Given the description of an element on the screen output the (x, y) to click on. 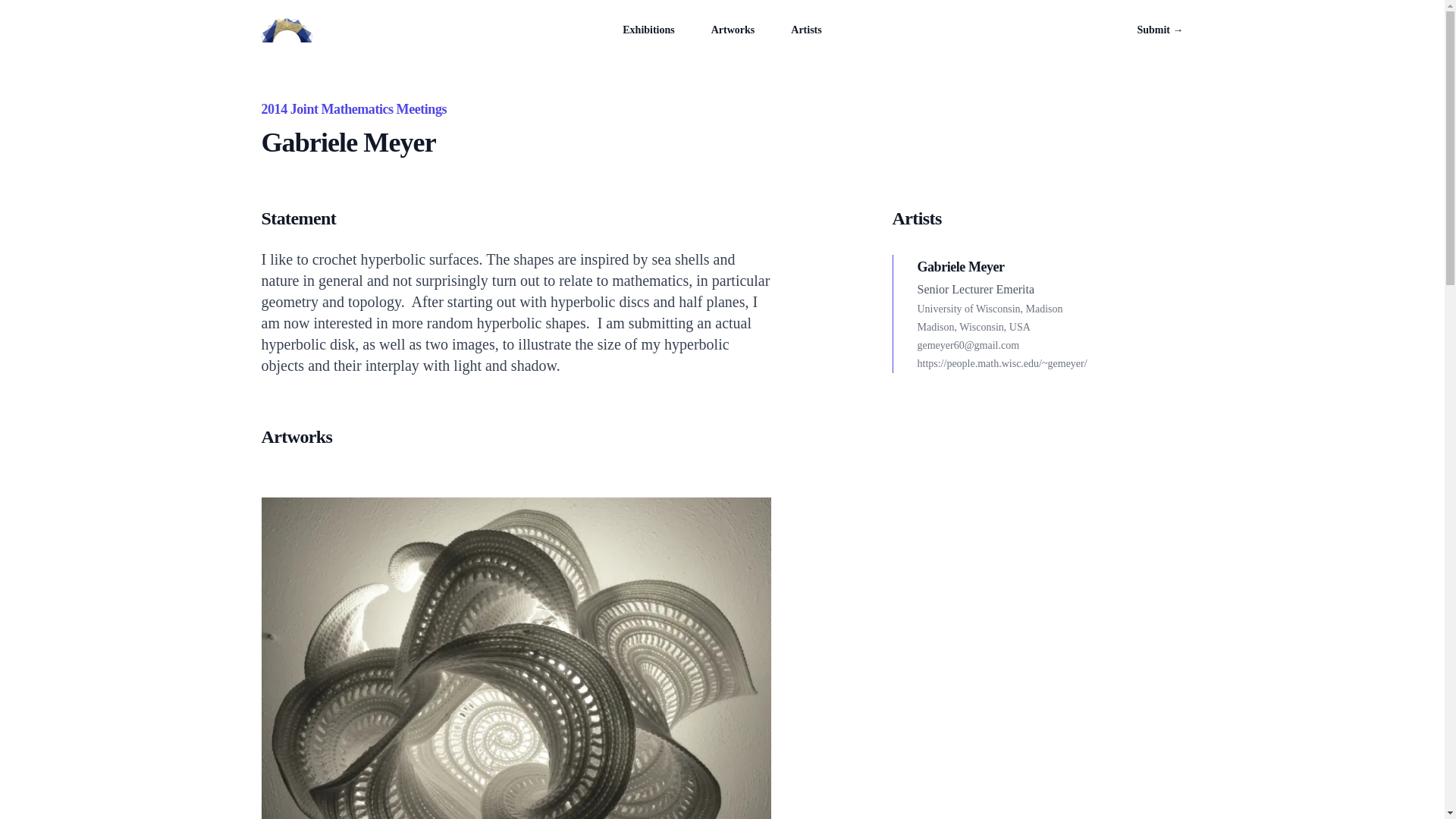
Artists (805, 30)
Artworks (733, 30)
Mathematical Art Galleries (285, 29)
Exhibitions (648, 30)
2014 Joint Mathematics Meetings (353, 109)
